Given the description of an element on the screen output the (x, y) to click on. 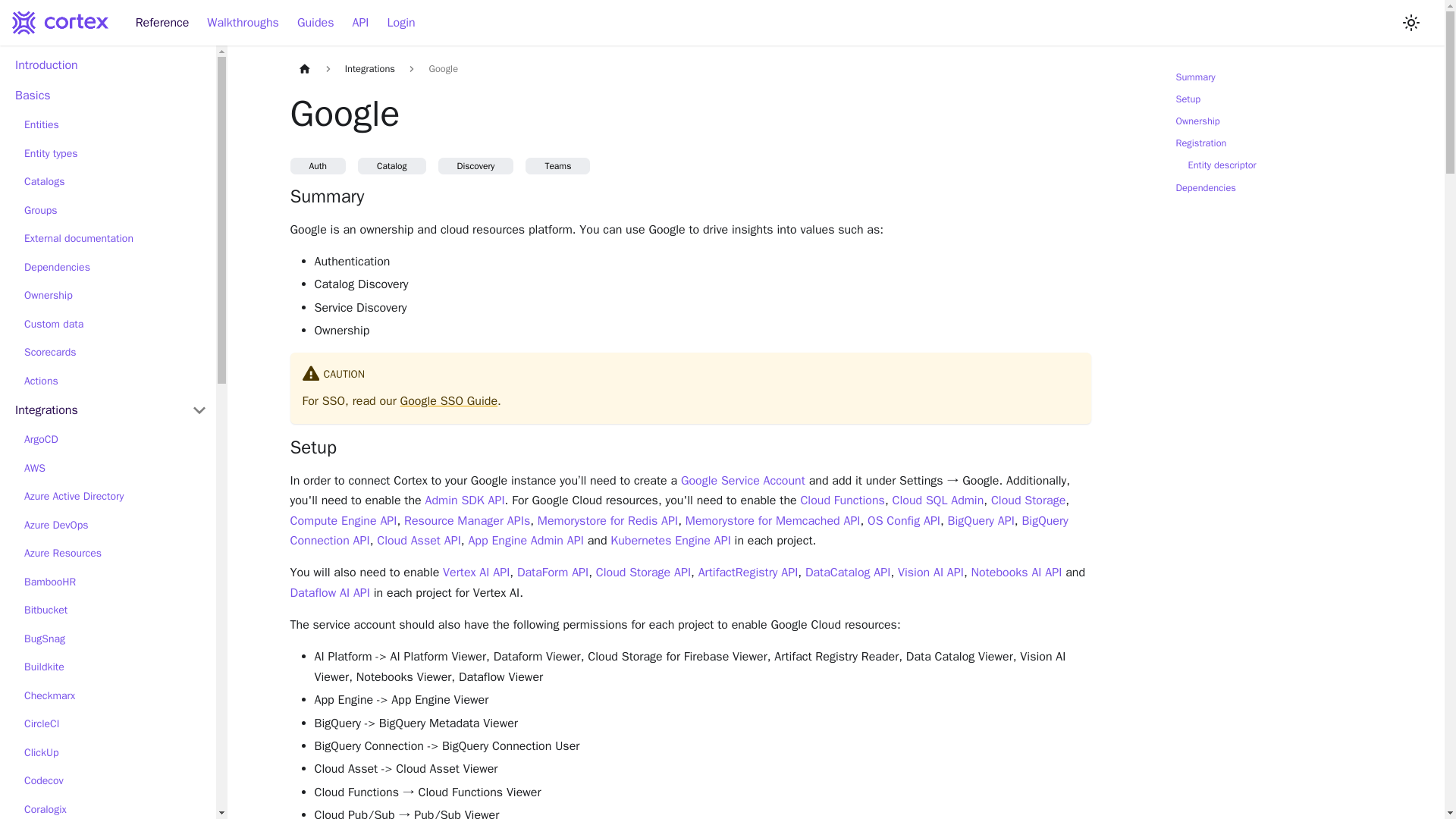
Reference (162, 22)
Groups (114, 209)
Bitbucket (114, 610)
Introduction (110, 64)
Azure Active Directory (114, 496)
Login (401, 22)
Catalogs (114, 181)
BambooHR (114, 581)
Entity types (114, 153)
Azure DevOps (114, 525)
